Given the description of an element on the screen output the (x, y) to click on. 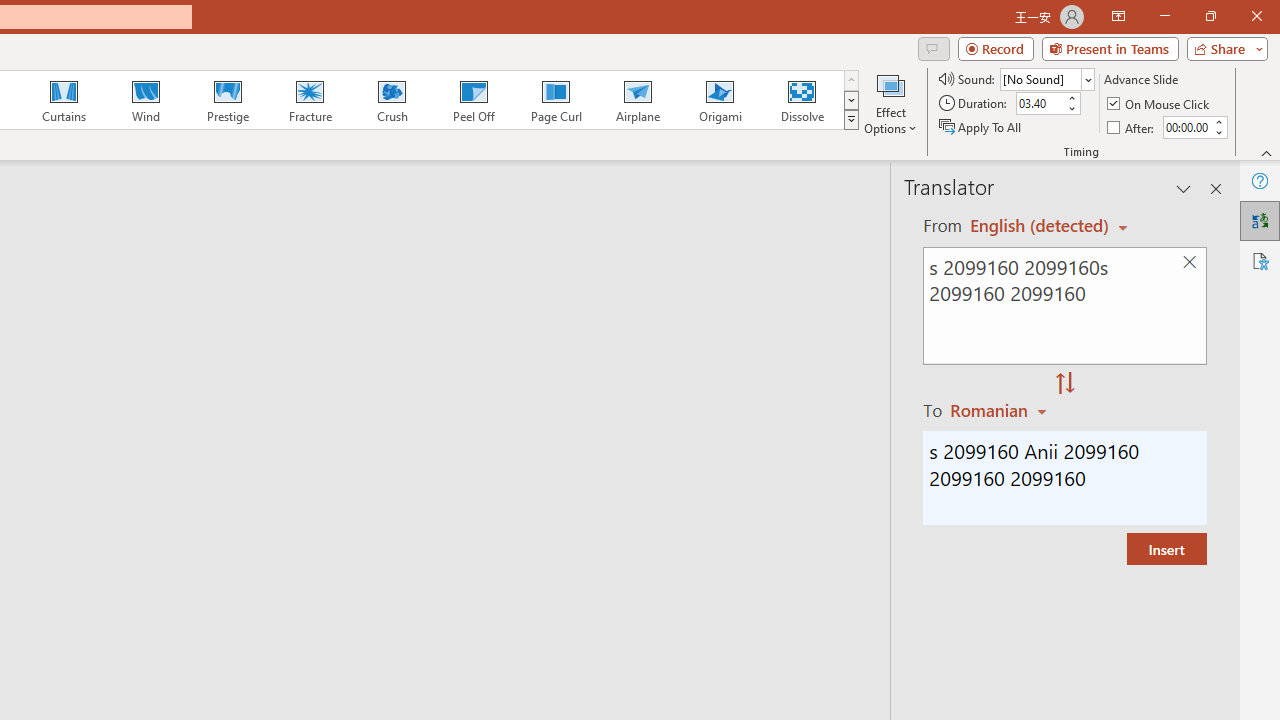
Curtains (63, 100)
After (1186, 127)
Origami (719, 100)
On Mouse Click (1159, 103)
Peel Off (473, 100)
Sound (1046, 78)
Effect Options (890, 102)
Crush (391, 100)
